Given the description of an element on the screen output the (x, y) to click on. 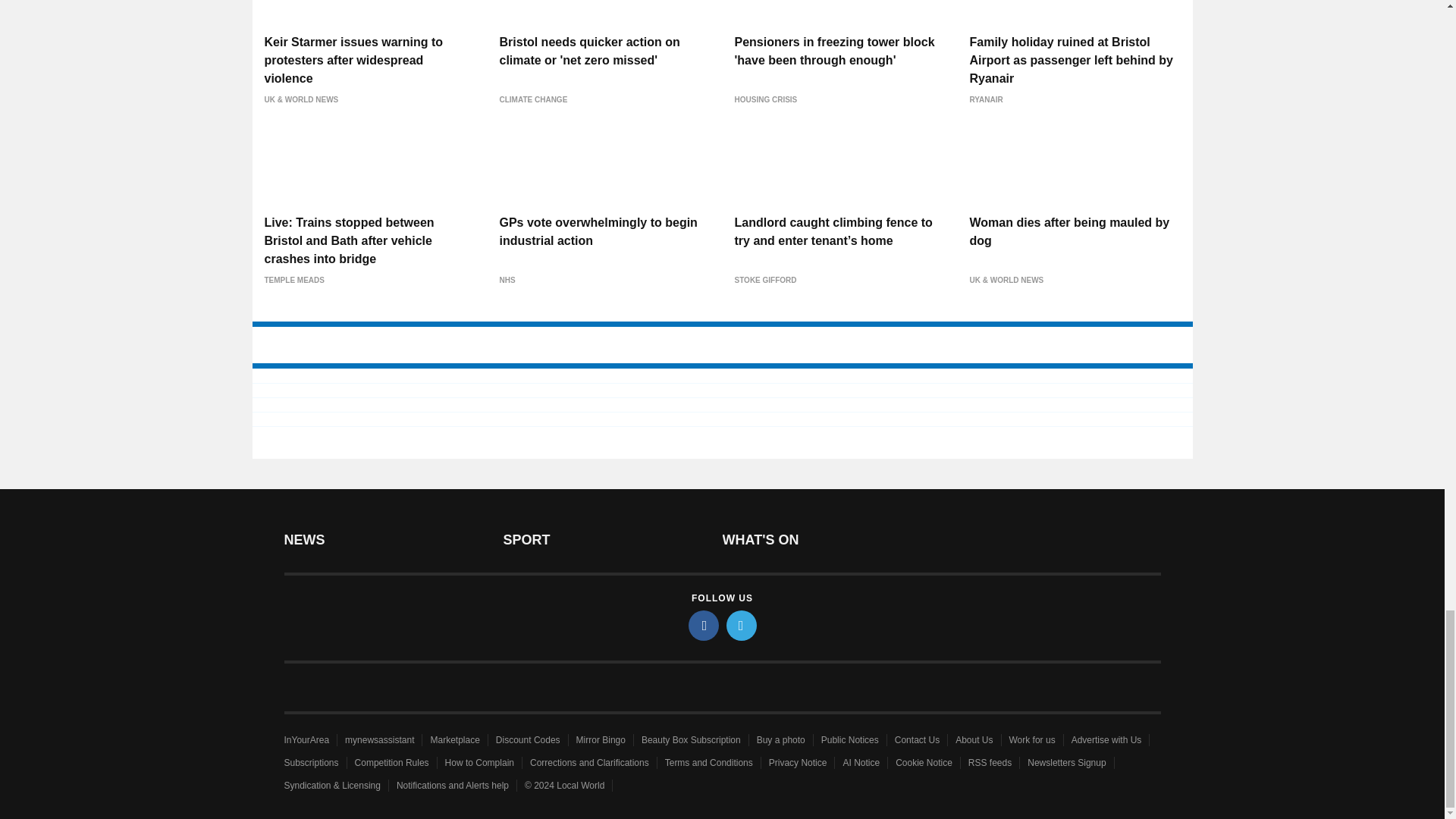
facebook (703, 625)
twitter (741, 625)
